Given the description of an element on the screen output the (x, y) to click on. 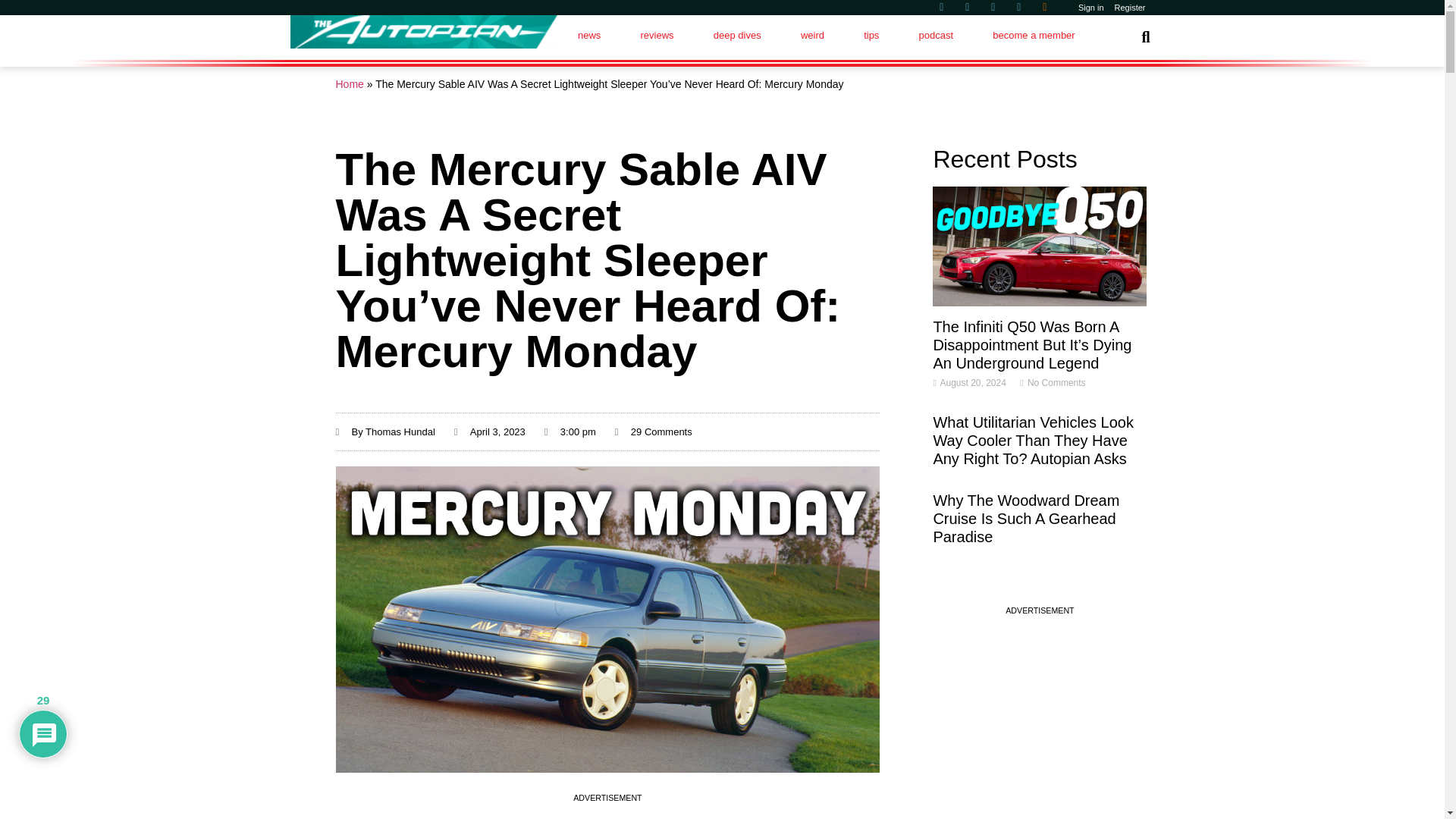
reviews (656, 35)
Register (1130, 7)
weird (812, 35)
deep dives (737, 35)
become a member (1033, 35)
podcast (935, 35)
news (589, 35)
tips (871, 35)
Sign in (1091, 7)
